Given the description of an element on the screen output the (x, y) to click on. 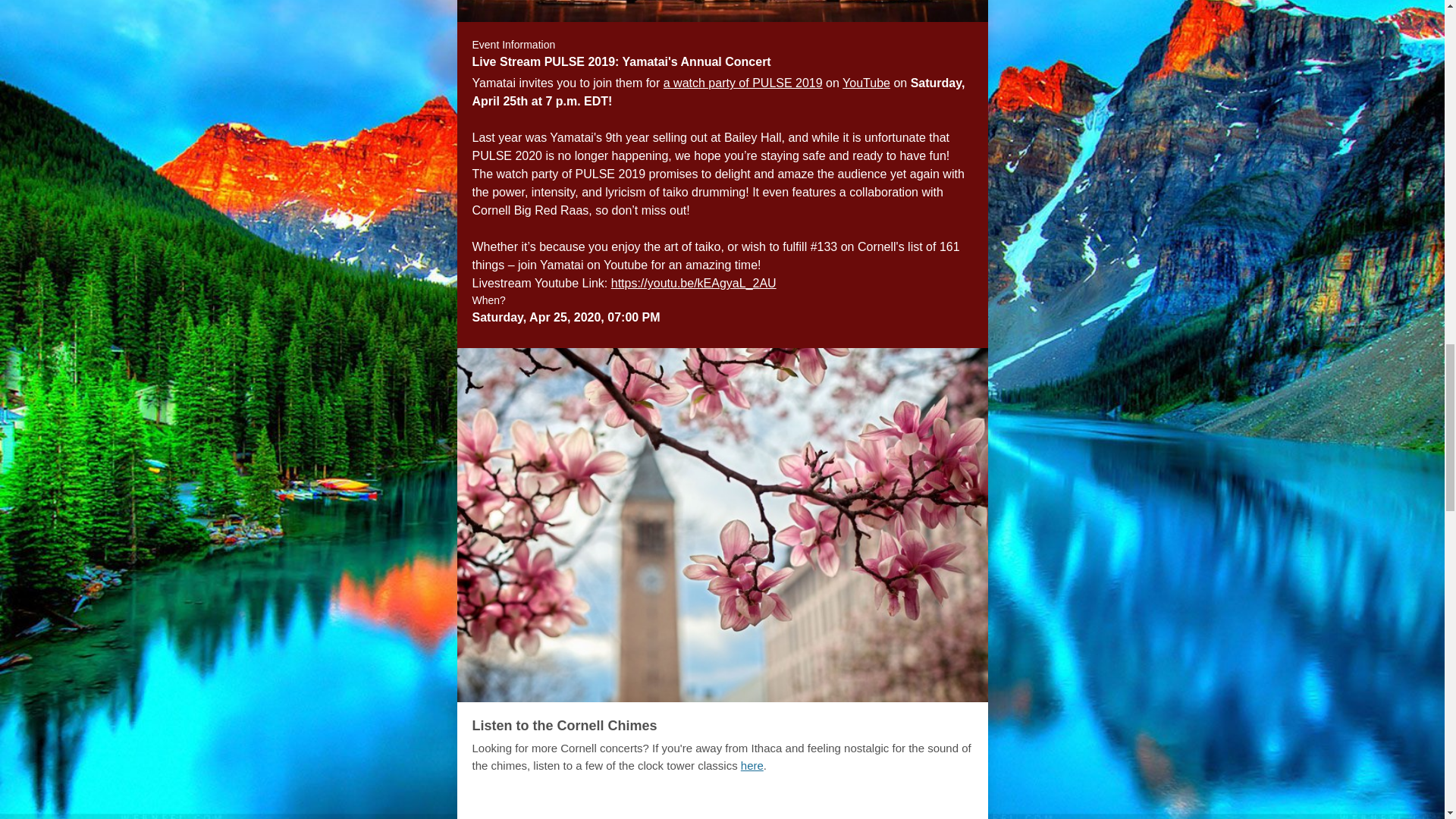
Bright (698, 807)
here (751, 765)
YouTube (866, 82)
Spot: (752, 807)
a watch party of PULSE 2019 (742, 82)
